Given the description of an element on the screen output the (x, y) to click on. 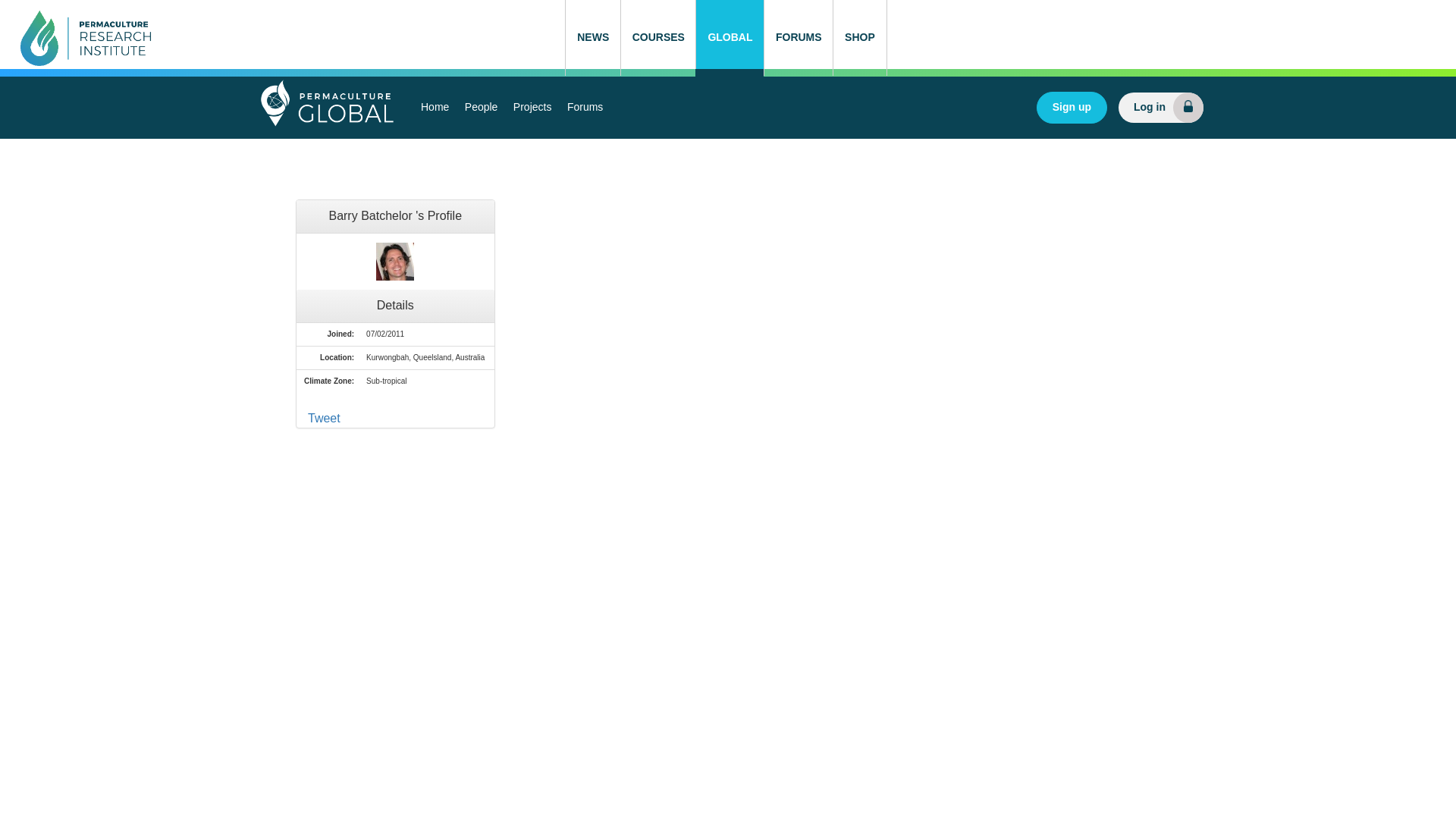
Log in (1161, 107)
Home (434, 107)
FORUMS (797, 38)
Forums (584, 107)
People (480, 107)
Barry Batchelor (394, 261)
Projects (531, 107)
Sign up (1071, 107)
Tweet (323, 418)
GLOBAL (728, 38)
COURSES (657, 38)
